Given the description of an element on the screen output the (x, y) to click on. 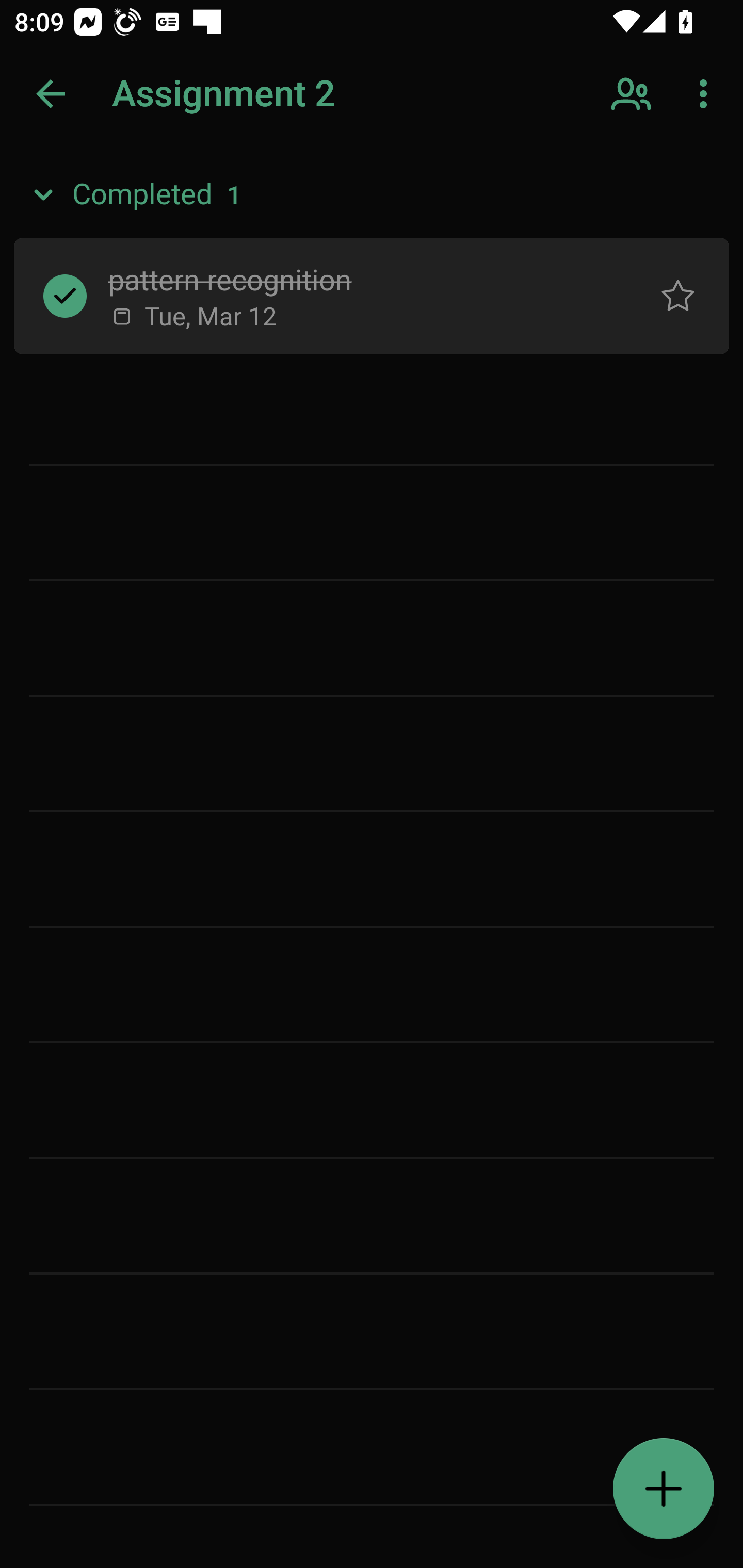
Back (50, 93)
testappium002@outlook.com Enter search (185, 93)
Sharing options (632, 93)
More options (706, 93)
Completed, 1 item, Expanded Completed 1 (371, 195)
Completed task pattern recognition, Button (64, 295)
Normal task pattern recognition, Button (677, 295)
pattern recognition (356, 277)
Add a task (663, 1488)
